Given the description of an element on the screen output the (x, y) to click on. 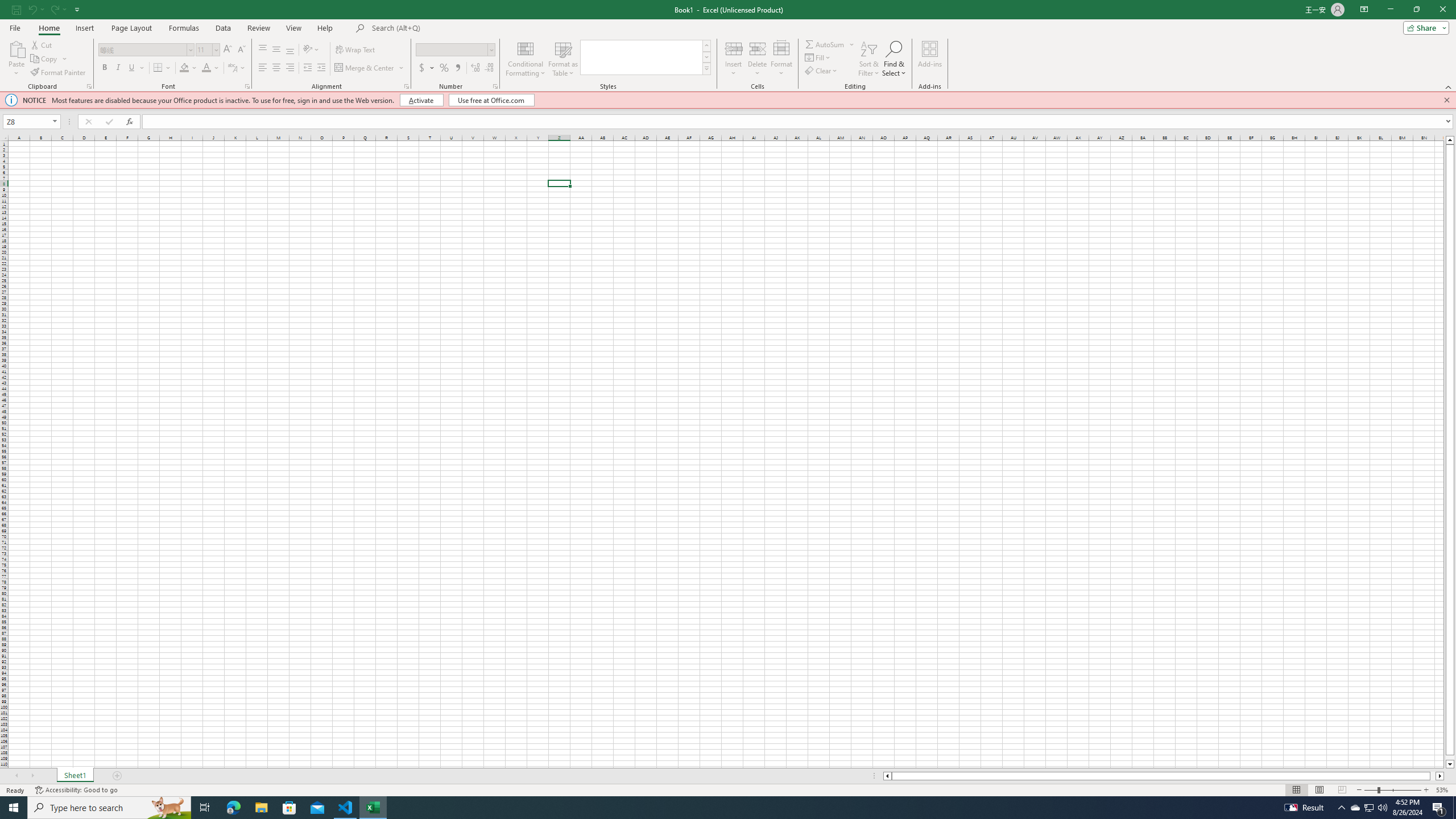
Wrap Text (355, 49)
Font Size (207, 49)
Use free at Office.com (491, 100)
Increase Decimal (474, 67)
Bottom Align (290, 49)
Underline (131, 67)
Orientation (311, 49)
Paste (16, 58)
Accounting Number Format (422, 67)
